Given the description of an element on the screen output the (x, y) to click on. 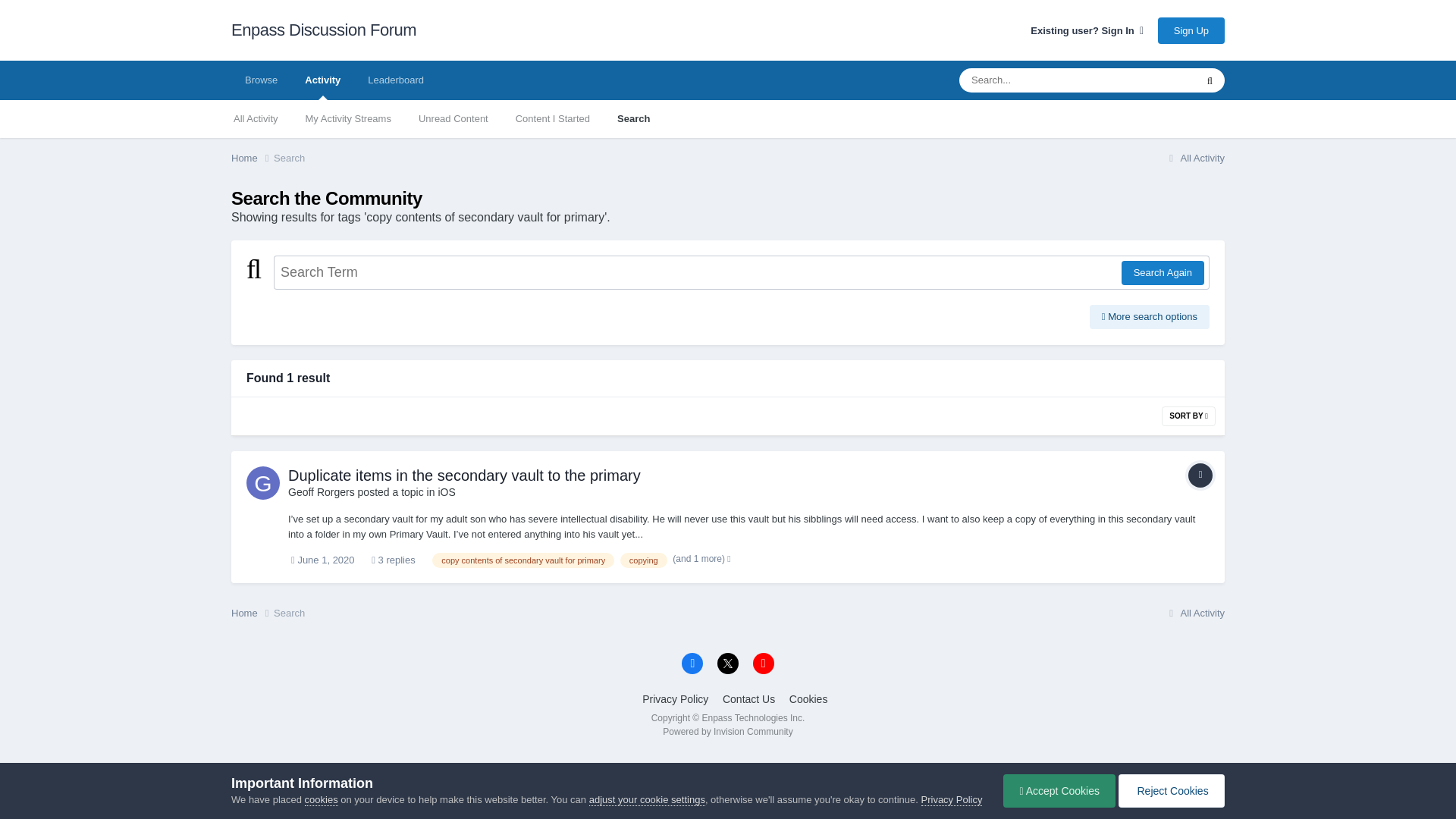
Enpass Discussion Forum (323, 30)
Find other content tagged with 'copying' (643, 560)
My Activity Streams (348, 118)
Existing user? Sign In   (1086, 30)
Home (252, 158)
Activity (322, 79)
Unread Content (453, 118)
Browse (261, 79)
Invision Community (727, 731)
Sign Up (1190, 29)
Topic (1200, 475)
Go to Geoff Rorgers's profile (321, 491)
More search options (1149, 316)
Search (633, 118)
